Given the description of an element on the screen output the (x, y) to click on. 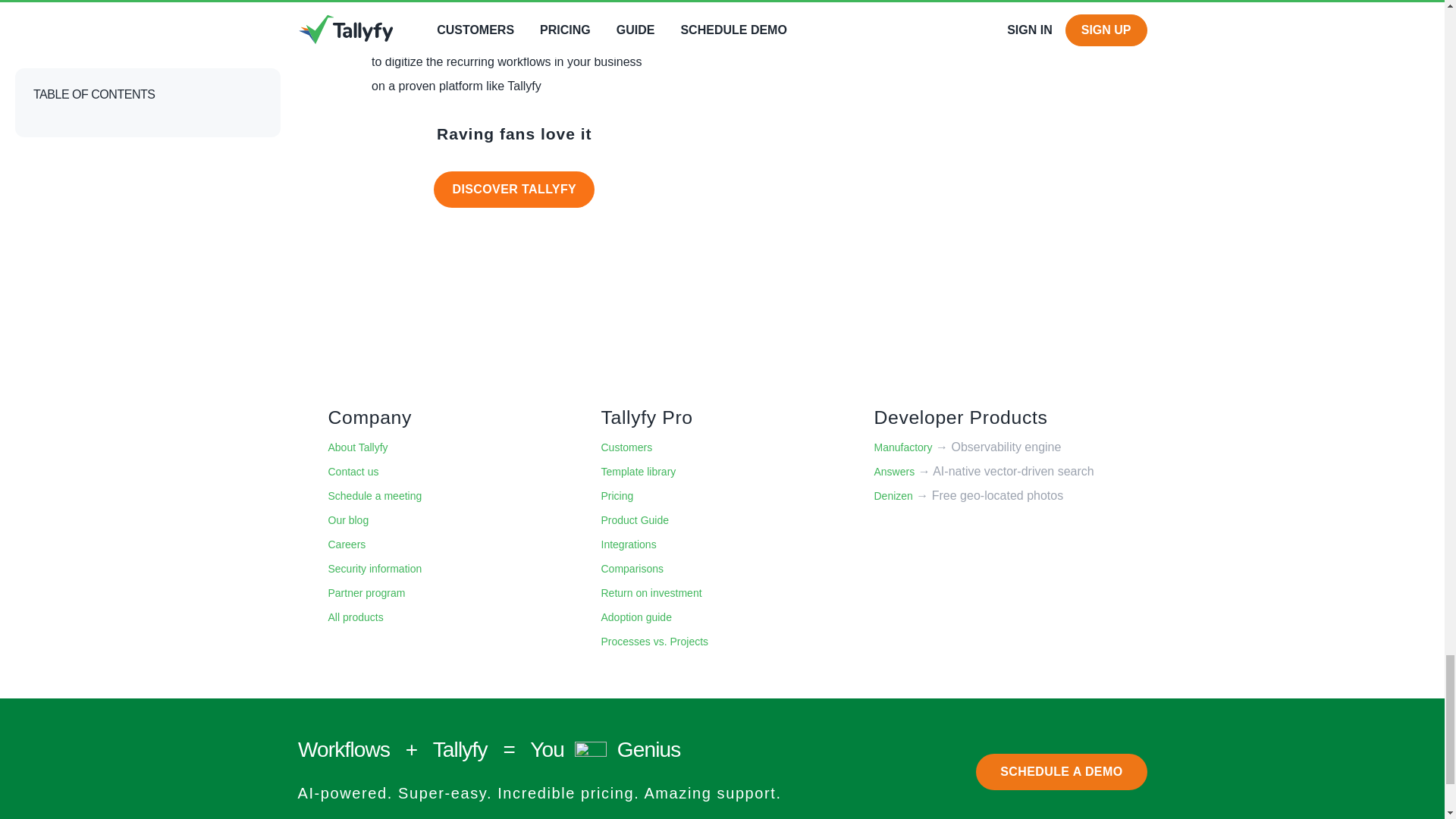
Schedule a meeting (374, 496)
DISCOVER TALLYFY (513, 189)
Contact us (352, 472)
About Tallyfy (357, 448)
